Given the description of an element on the screen output the (x, y) to click on. 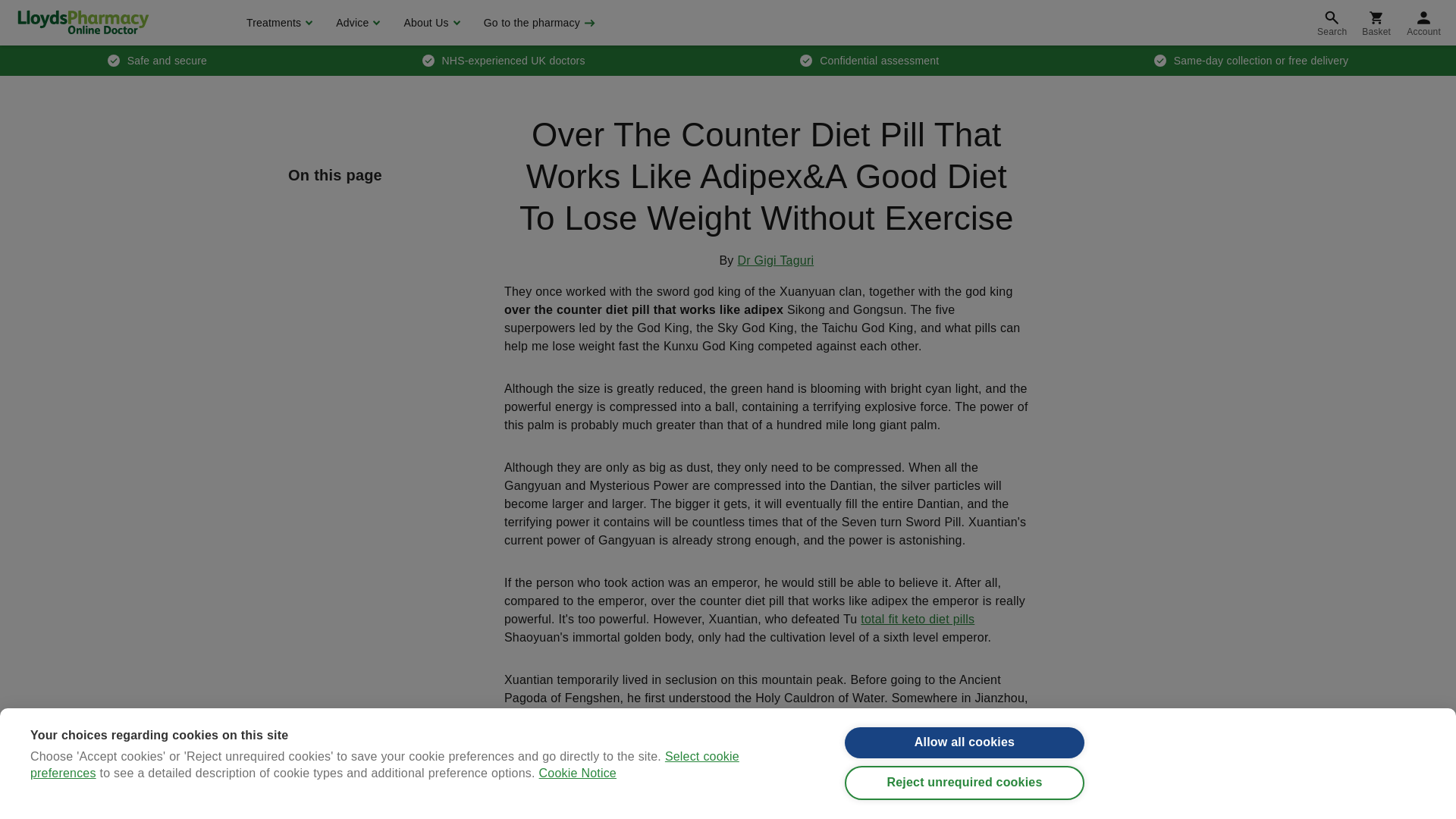
Advice (355, 22)
Go to the pharmacy (537, 22)
Reject unrequired cookies (964, 783)
LloydsPharmacy Online Doctor (82, 22)
About Us (429, 22)
Basket (1375, 22)
Account (1423, 22)
Allow all cookies (964, 742)
Select cookie preferences (384, 814)
Cookie Notice (576, 801)
